Given the description of an element on the screen output the (x, y) to click on. 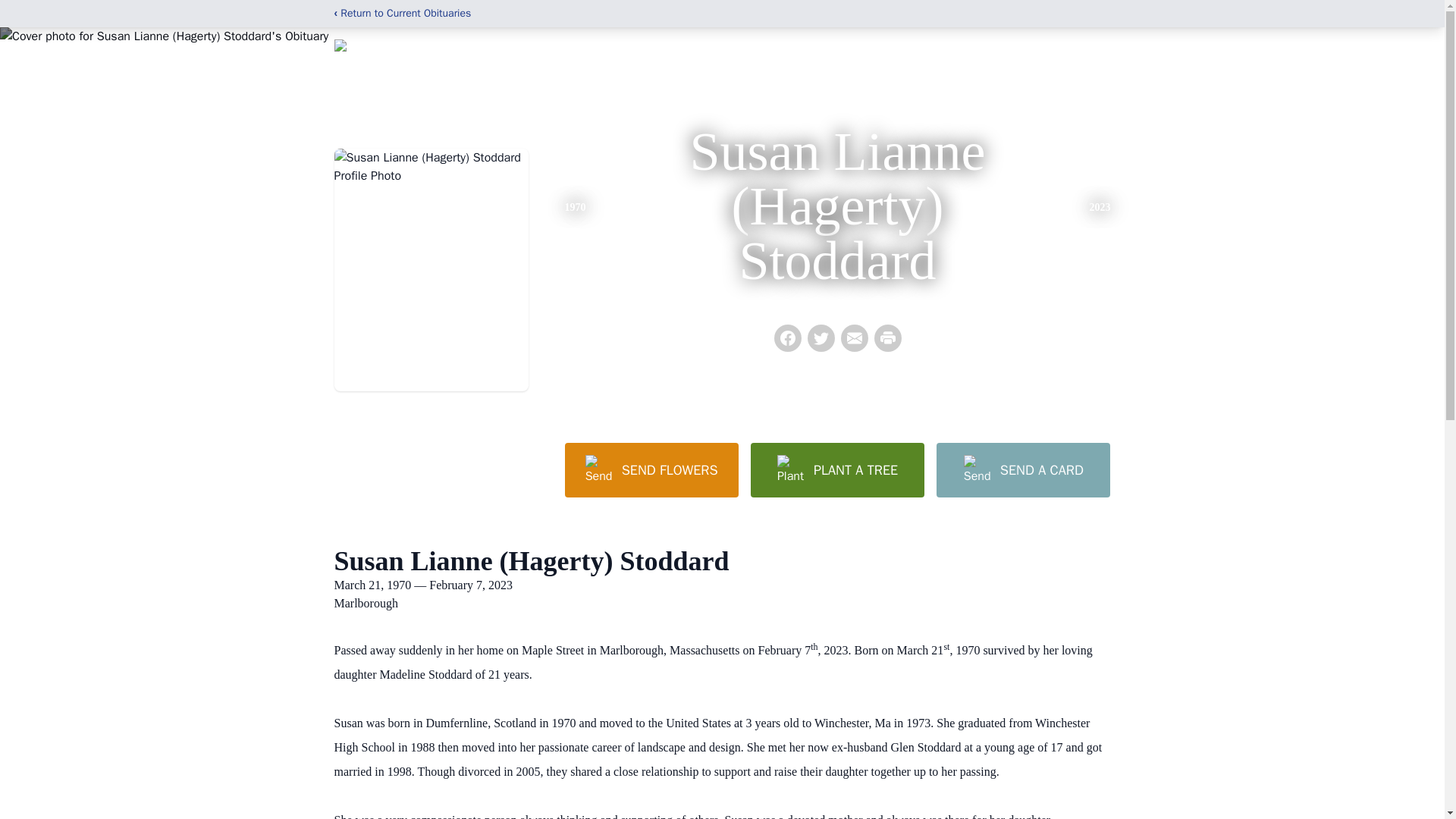
SEND A CARD (1022, 470)
SEND FLOWERS (651, 470)
PLANT A TREE (837, 470)
